Given the description of an element on the screen output the (x, y) to click on. 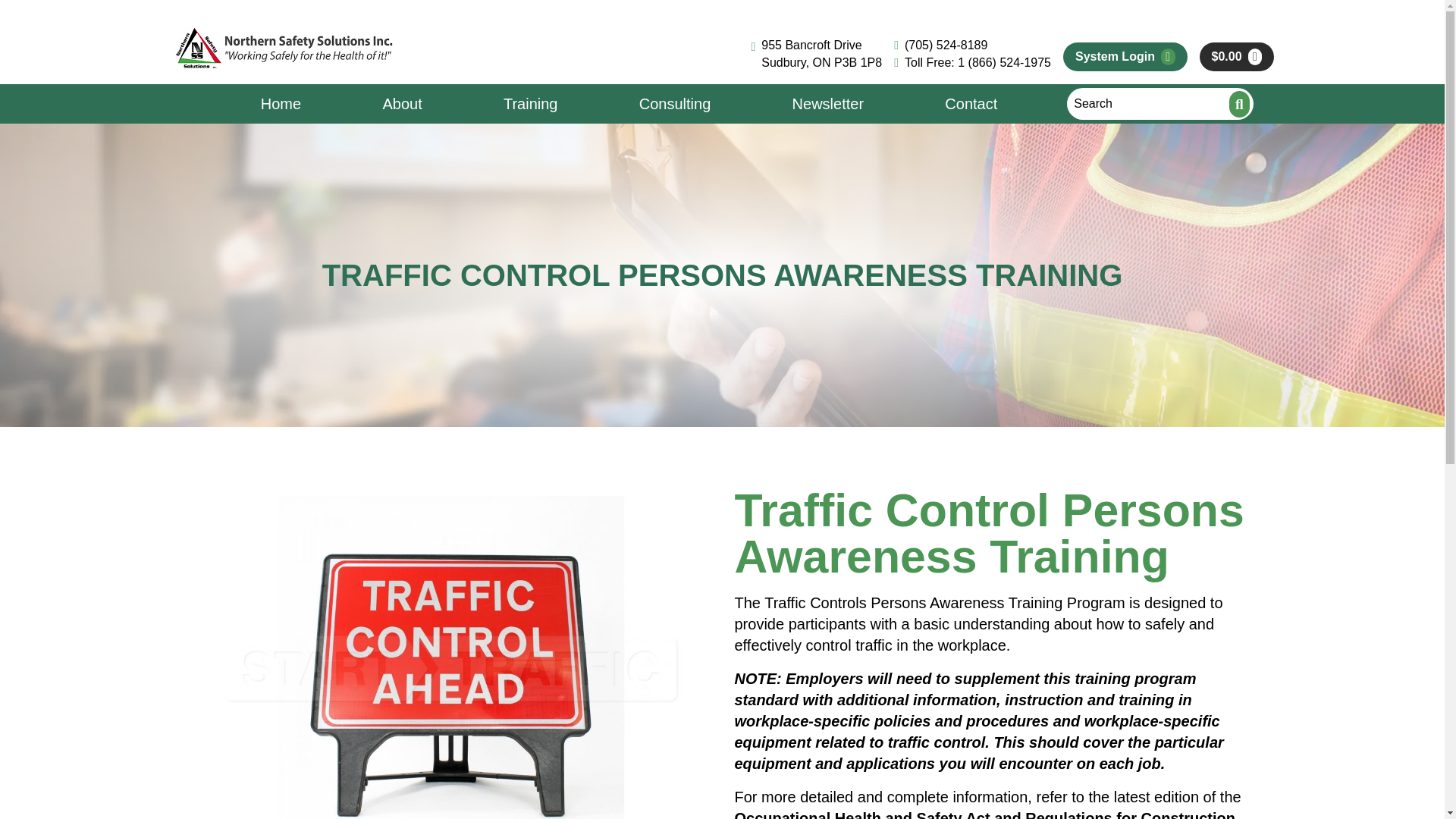
Northern Safety Solutions Inc. (283, 48)
System Login (1114, 56)
Home (280, 103)
Contact (971, 103)
About (401, 103)
Consulting (675, 103)
Training (531, 103)
Newsletter (828, 103)
Search (1238, 103)
